Given the description of an element on the screen output the (x, y) to click on. 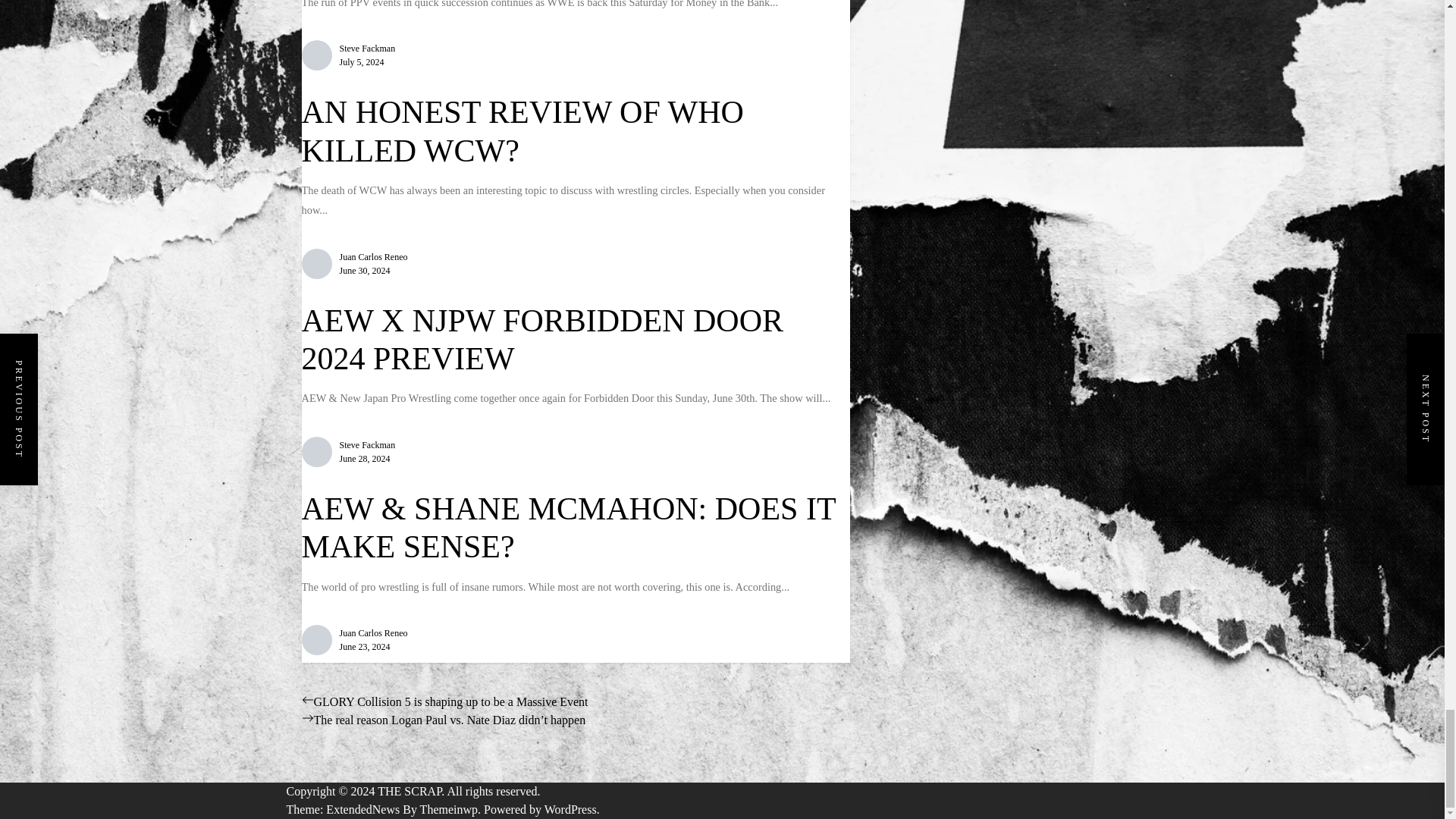
Themeinwp (451, 809)
WordPress (571, 809)
THE SCRAP (411, 790)
